Given the description of an element on the screen output the (x, y) to click on. 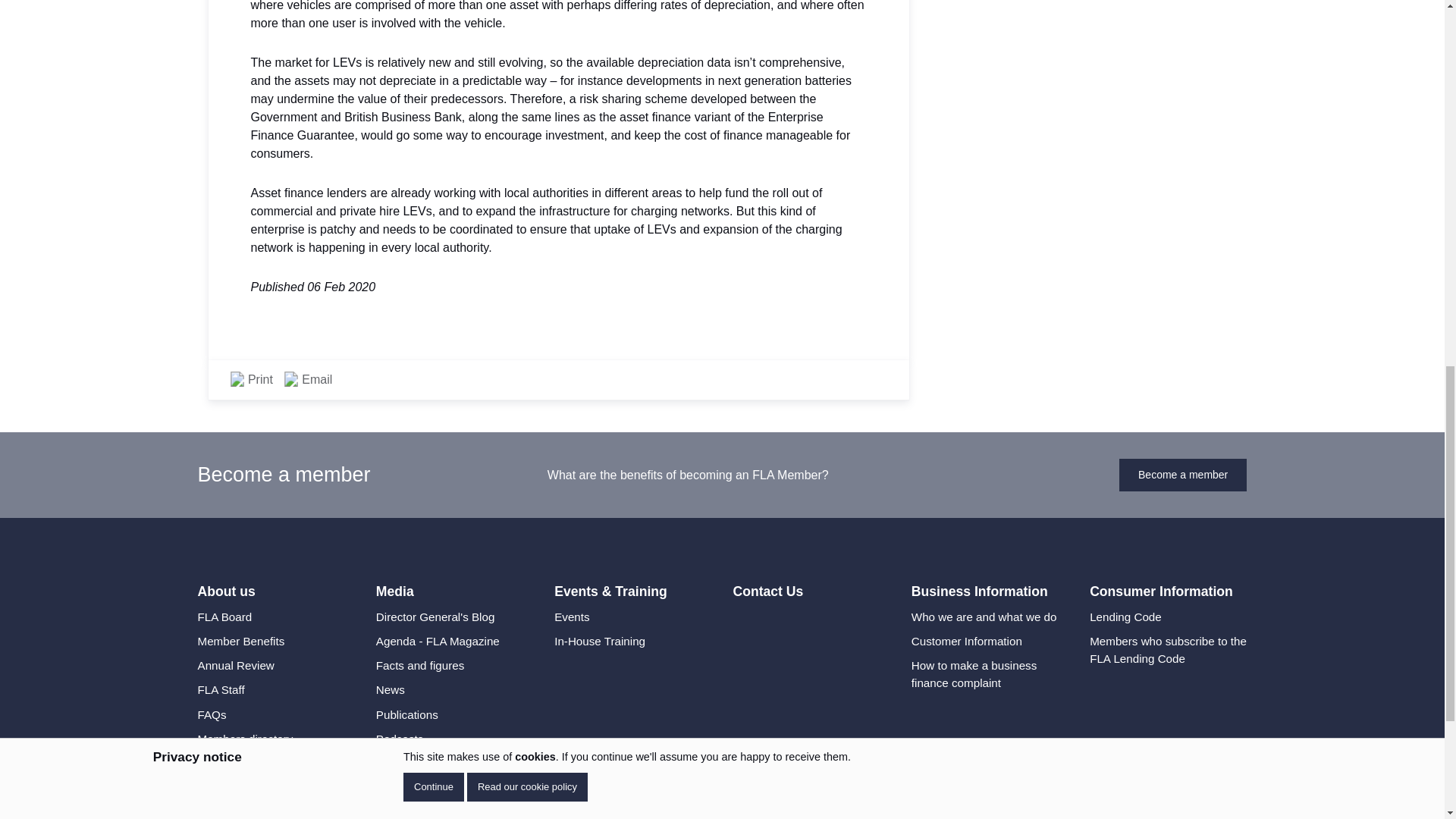
print (236, 378)
envelope (290, 378)
Share by e-mail (307, 379)
